Given the description of an element on the screen output the (x, y) to click on. 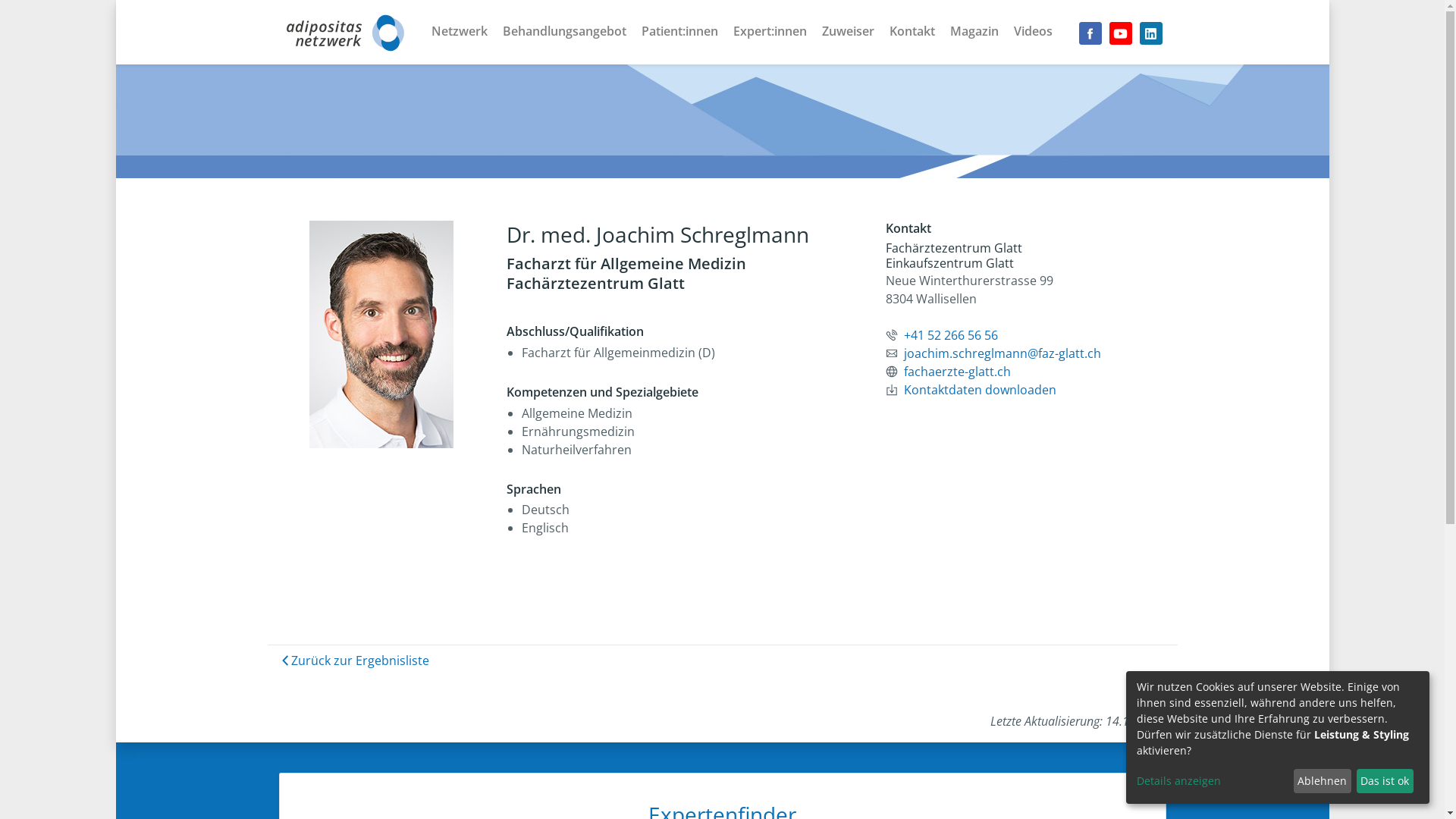
Videos Element type: text (1032, 30)
Ablehnen Element type: text (1322, 780)
Magazin Element type: text (973, 30)
Zuweiser Element type: text (847, 30)
Details anzeigen Element type: text (1212, 780)
fachaerzte-glatt.ch Element type: text (956, 371)
Netzwerk Element type: text (458, 30)
Das ist ok Element type: text (1384, 780)
+41 52 266 56 56 Element type: text (950, 334)
Behandlungsangebot Element type: text (563, 30)
Kontaktdaten downloaden Element type: text (979, 389)
Kontakt Element type: text (911, 30)
joachim.schreglmann@faz-glatt.ch Element type: text (1002, 353)
Expert:innen Element type: text (768, 30)
Patient:innen Element type: text (679, 30)
